Given the description of an element on the screen output the (x, y) to click on. 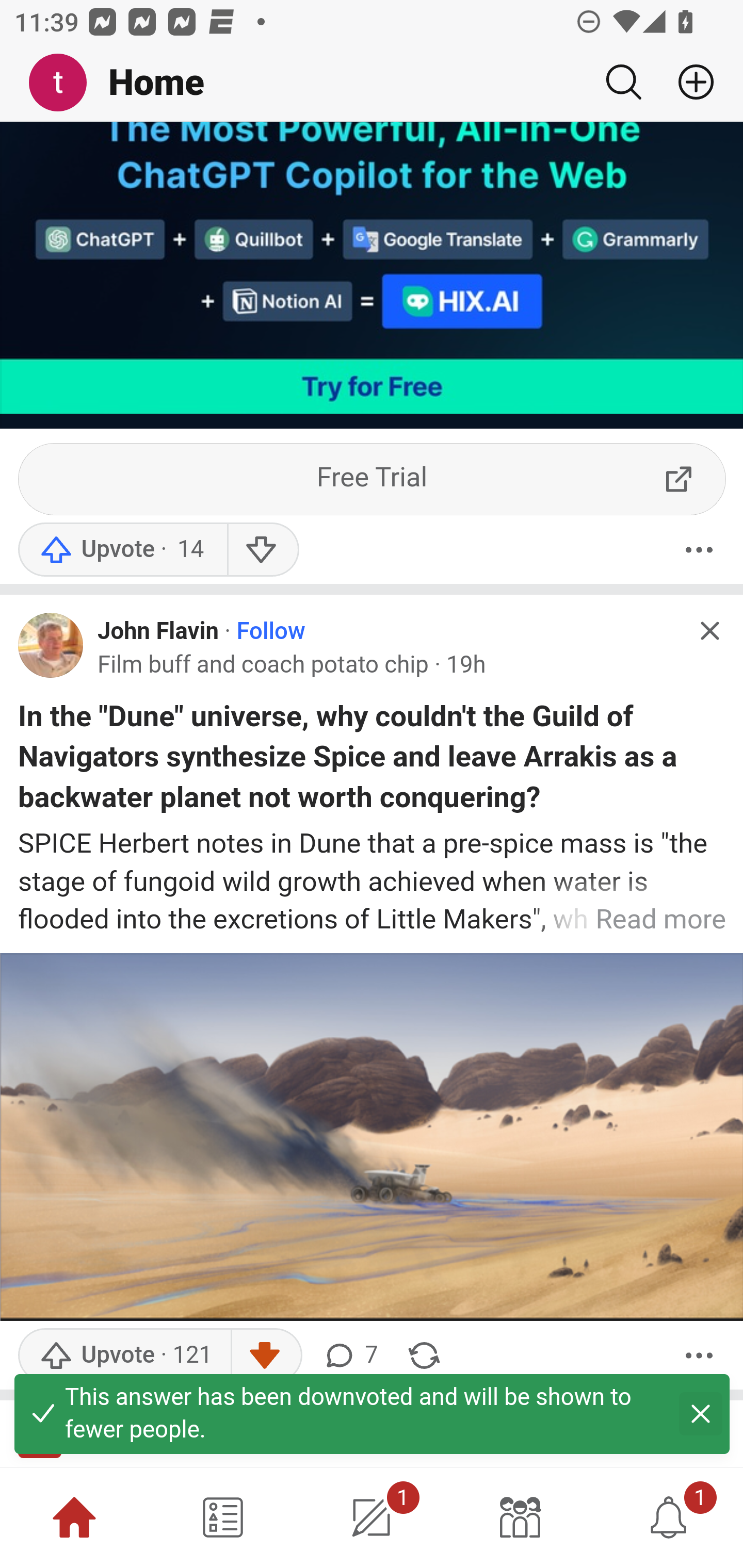
Me (64, 83)
Search (623, 82)
Add (688, 82)
Free Trial ExternalLink (372, 480)
Upvote (122, 550)
Downvote (262, 550)
More (699, 550)
Hide (709, 630)
Profile photo for John Flavin (50, 647)
John Flavin (158, 632)
Follow (270, 632)
Upvote (124, 1357)
Downvote (266, 1357)
7 comments (349, 1357)
Share (424, 1357)
More (699, 1357)
1 (371, 1517)
1 (668, 1517)
